Given the description of an element on the screen output the (x, y) to click on. 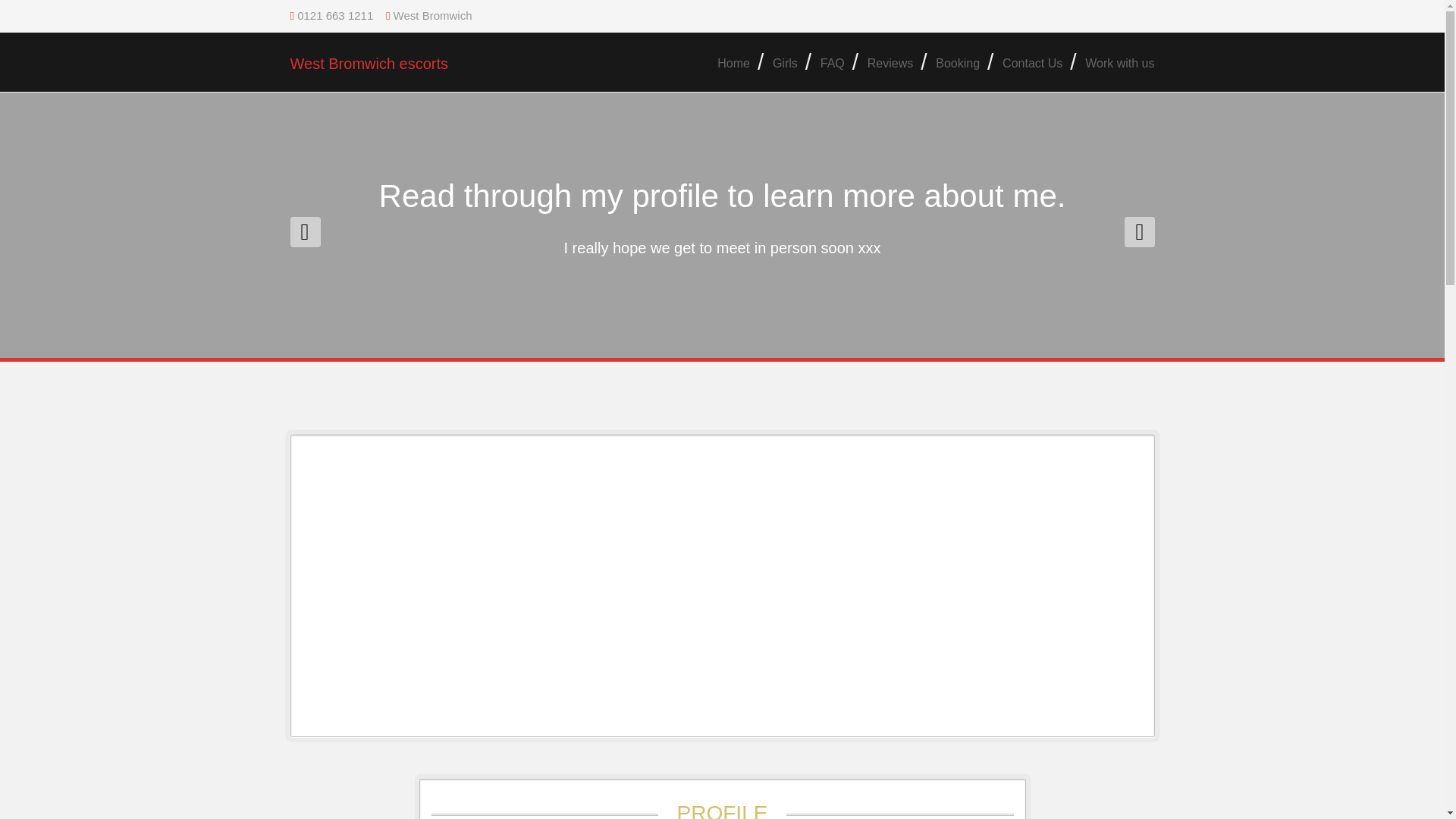
Home (733, 63)
Work with us (1114, 63)
Work with us (1114, 63)
Booking (957, 63)
Home (733, 63)
Girls (785, 63)
Contact Us (1032, 63)
West Bromwich escorts (369, 63)
FAQ (832, 63)
FAQ (832, 63)
Reviews (890, 63)
Girls (785, 63)
Contact Us (1032, 63)
Booking (957, 63)
